Given the description of an element on the screen output the (x, y) to click on. 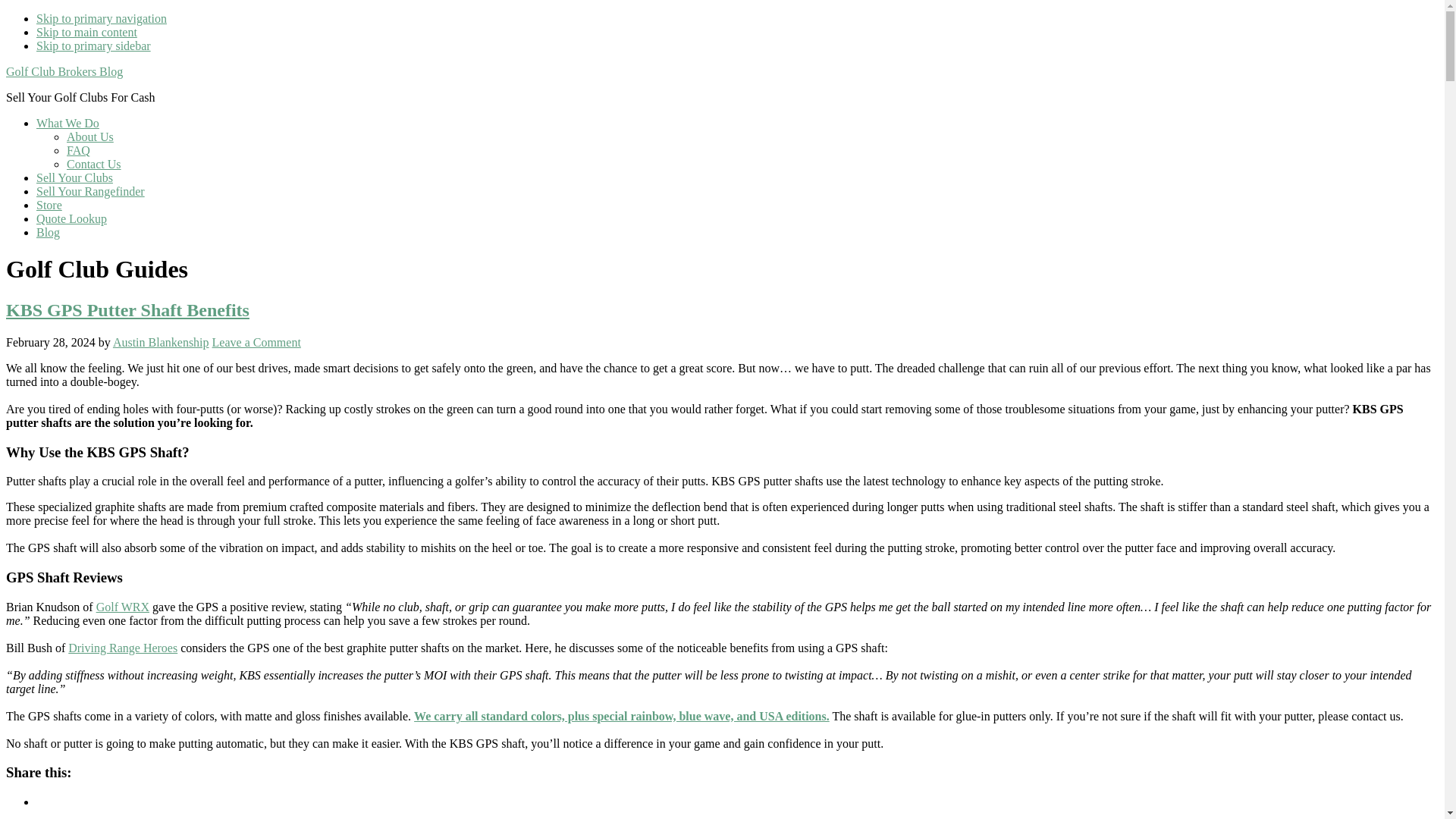
Skip to primary navigation (101, 18)
Leave a Comment (256, 341)
Instant quote for your Golf Clubs (74, 177)
Quote Lookup (71, 218)
Golf WRX (122, 606)
Store (49, 205)
What We Do (67, 123)
Golf Club Brokers Blog (63, 71)
Blog (47, 232)
Skip to main content (86, 31)
KBS GPS Putter Shaft Benefits (126, 310)
Sell Your Clubs (74, 177)
Driving Range Heroes (122, 647)
Austin Blankenship (161, 341)
